Given the description of an element on the screen output the (x, y) to click on. 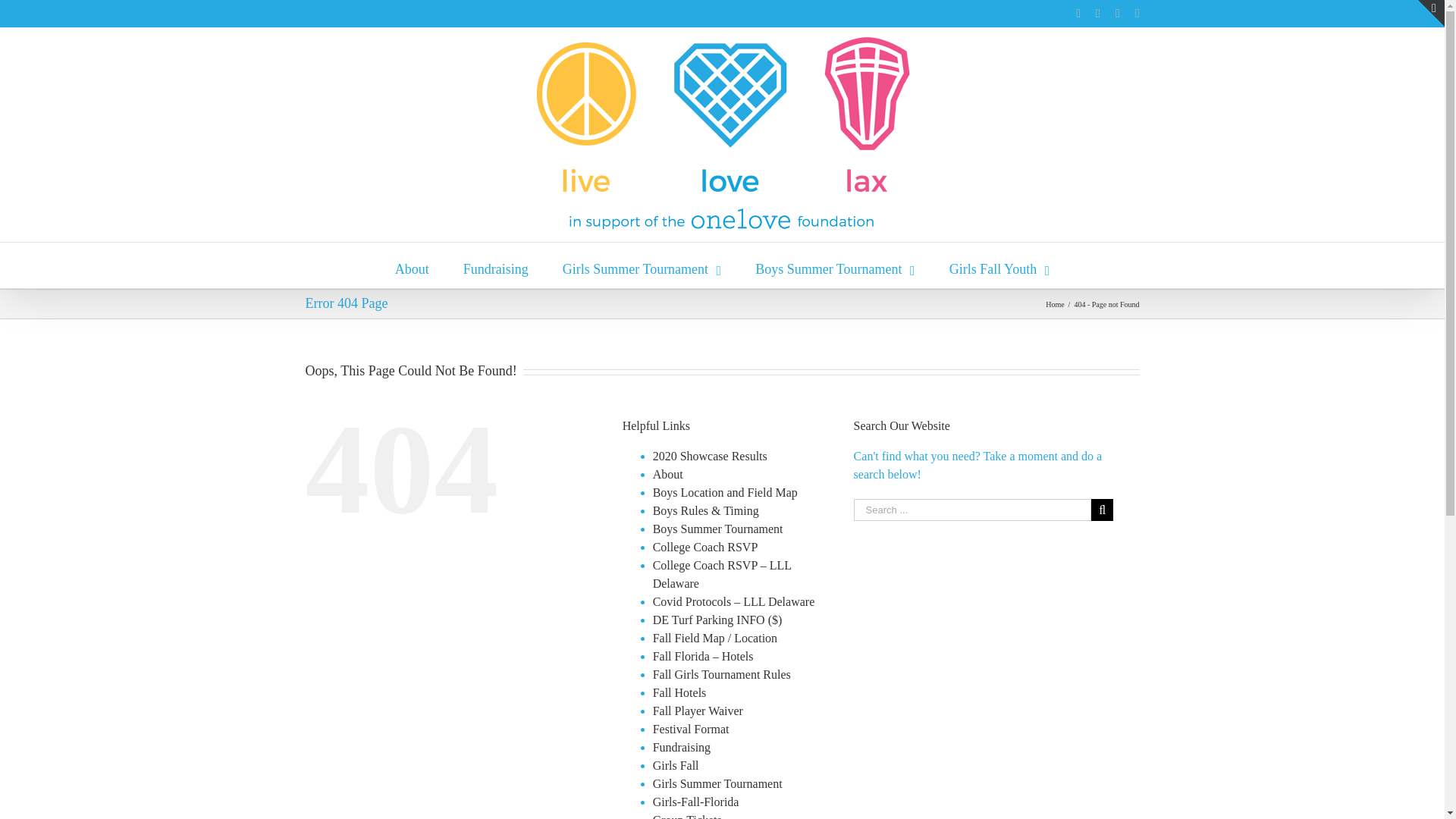
Girls Fall Youth (999, 265)
Girls Summer Tournament (641, 265)
Boys Summer Tournament (834, 265)
Fundraising (495, 265)
